Given the description of an element on the screen output the (x, y) to click on. 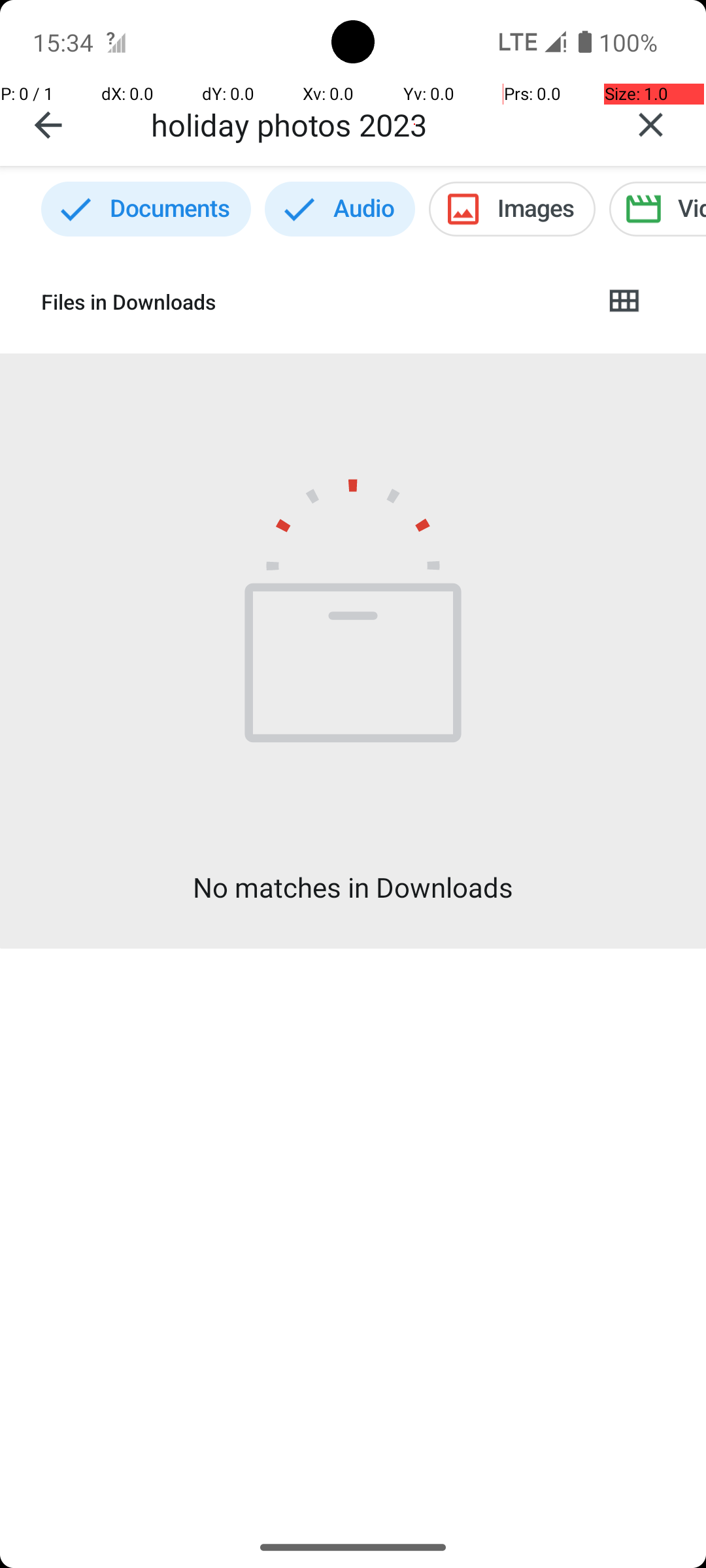
holiday photos 2023 Element type: android.widget.AutoCompleteTextView (373, 124)
